Given the description of an element on the screen output the (x, y) to click on. 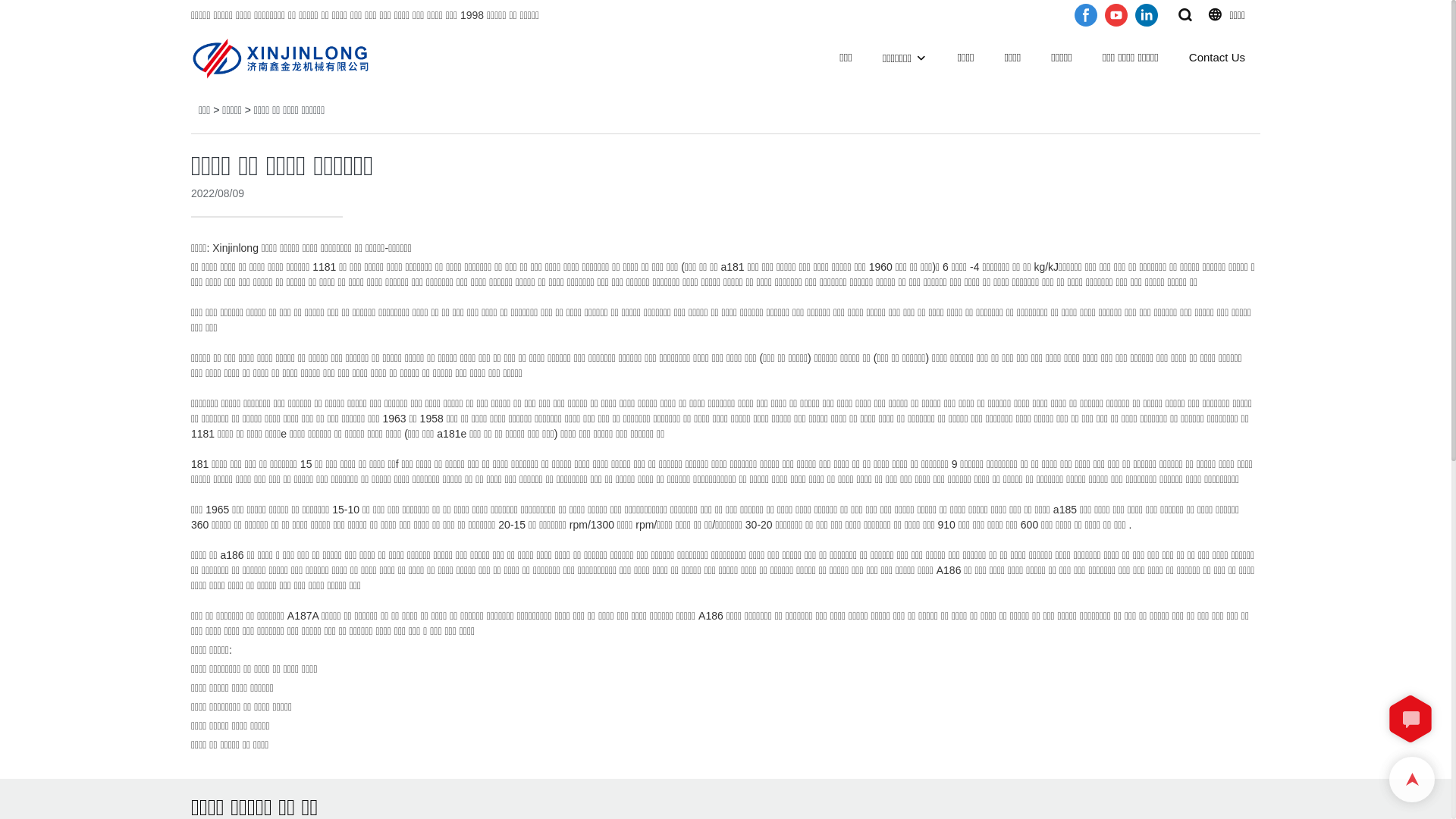
Contact Us Element type: text (1217, 56)
youtube Element type: hover (1116, 15)
facebook Element type: hover (1085, 15)
linkedin Element type: hover (1146, 15)
